Given the description of an element on the screen output the (x, y) to click on. 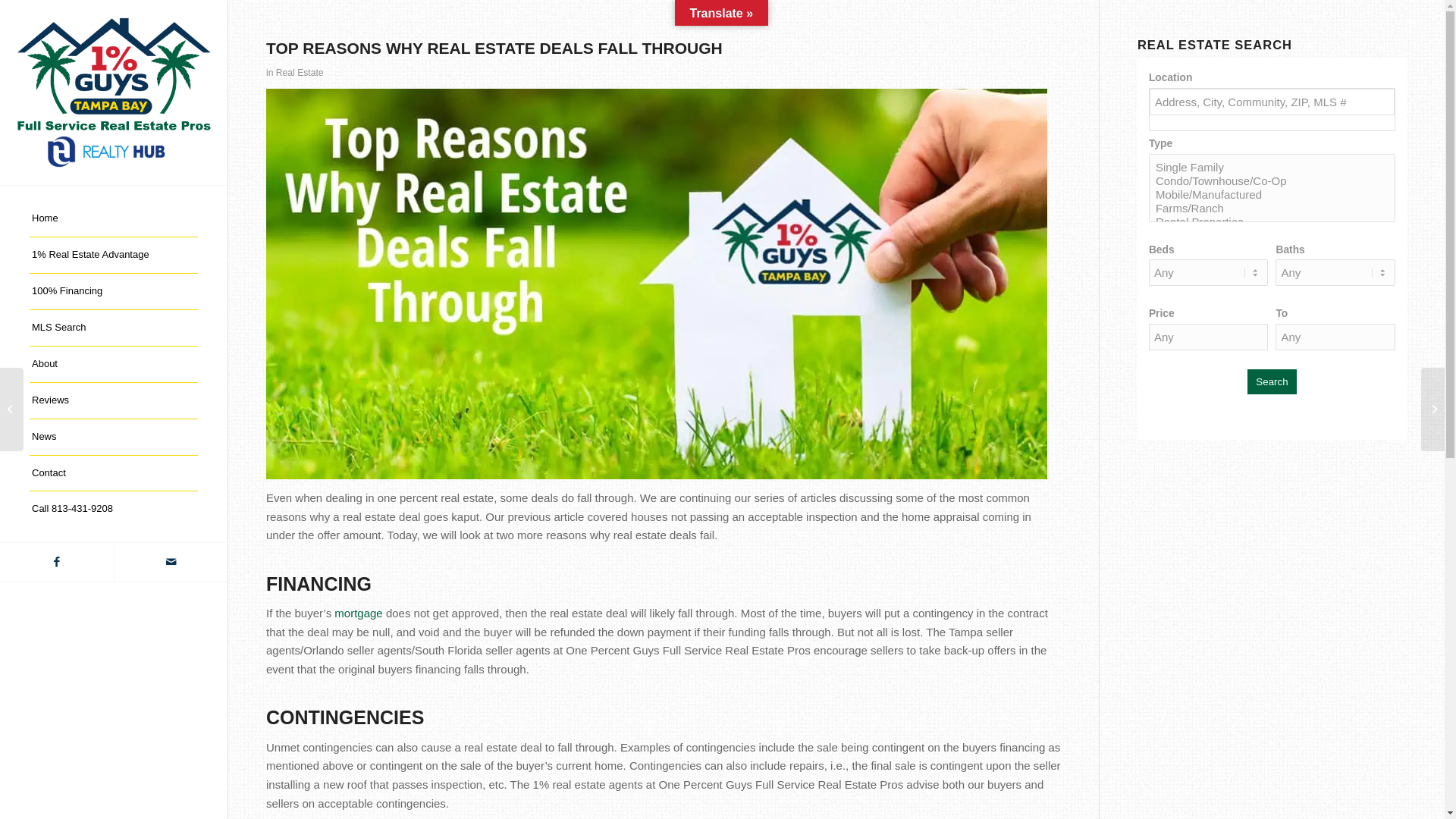
Search Element type: text (1271, 381)
mortgage Element type: text (358, 612)
Home Element type: text (113, 218)
Reviews Element type: text (113, 400)
Facebook Element type: hover (56, 561)
About Element type: text (113, 364)
Mail Element type: hover (170, 561)
100% Financing Element type: text (113, 291)
Real Estate Element type: text (299, 72)
1% Real Estate Advantage Element type: text (113, 255)
MLS Search Element type: text (113, 328)
Contact Element type: text (113, 473)
Call 813-431-9208 Element type: text (113, 509)
News Element type: text (113, 437)
